Given the description of an element on the screen output the (x, y) to click on. 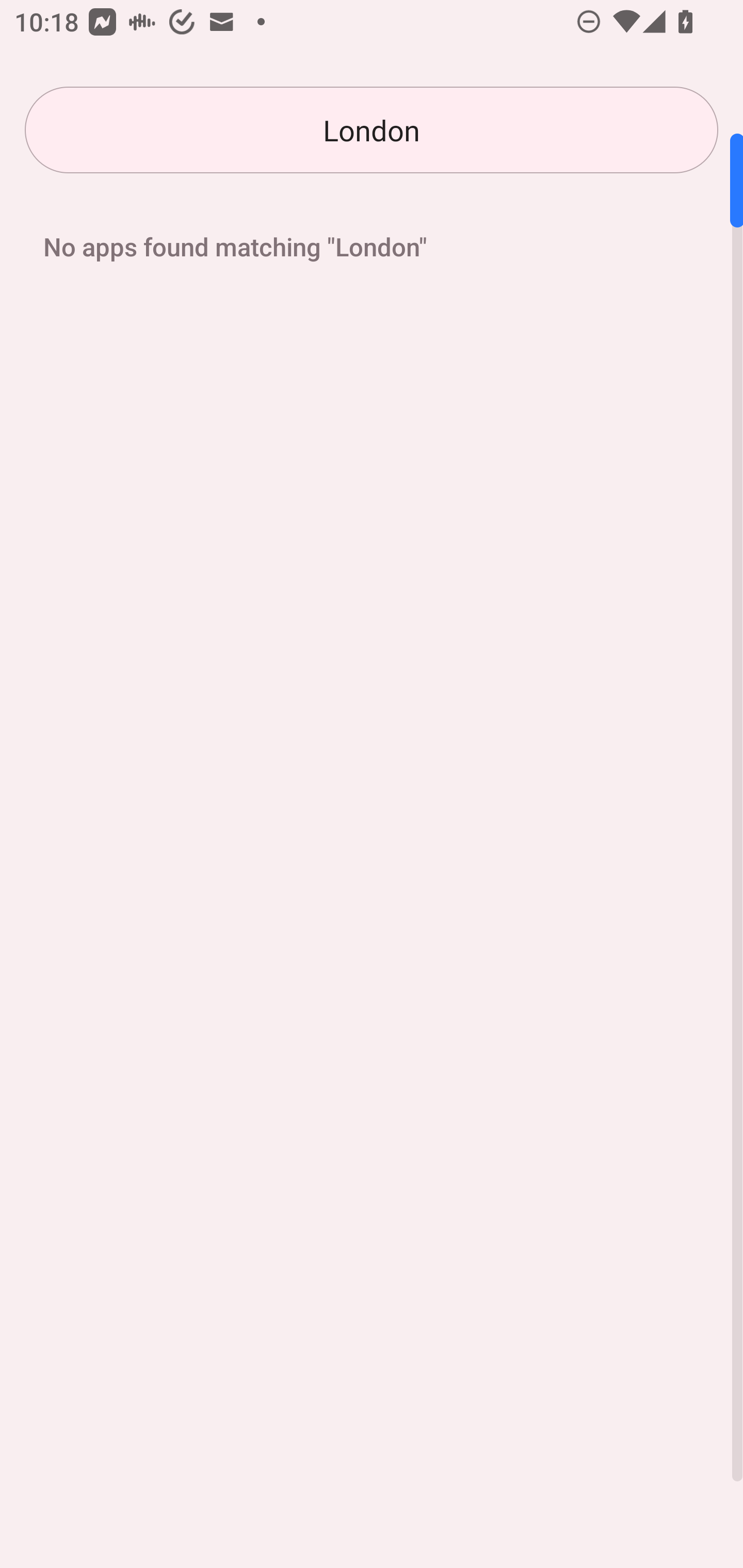
London (371, 130)
